Given the description of an element on the screen output the (x, y) to click on. 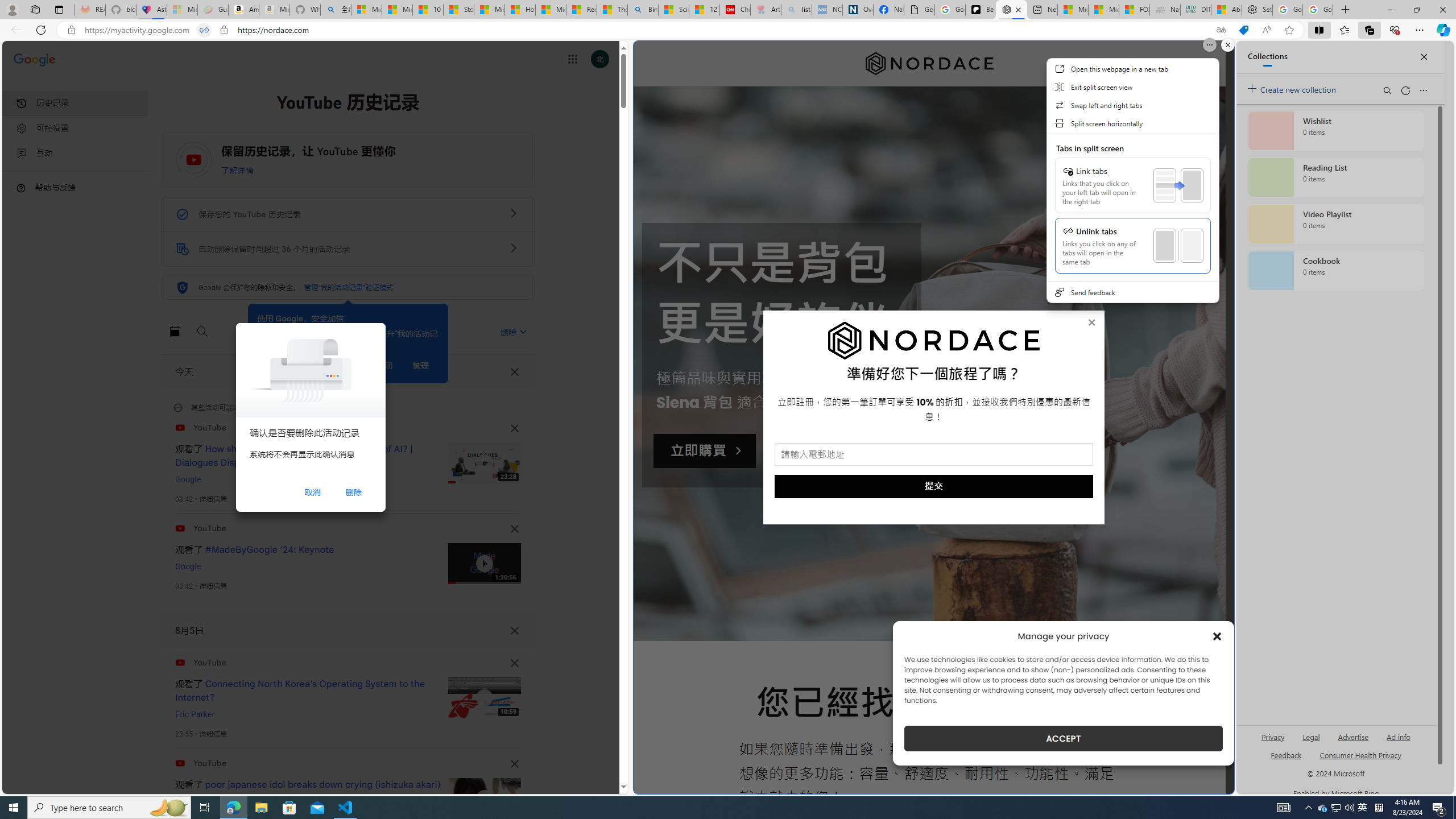
AutomationID: input_5_1 (933, 454)
Navy Quest (1164, 9)
Show translate options (1220, 29)
Arthritis: Ask Health Professionals - Sleeping (765, 9)
Class: SubmenuView (1132, 180)
Science - MSN (673, 9)
Open this webpage in a new tab (1132, 68)
